Given the description of an element on the screen output the (x, y) to click on. 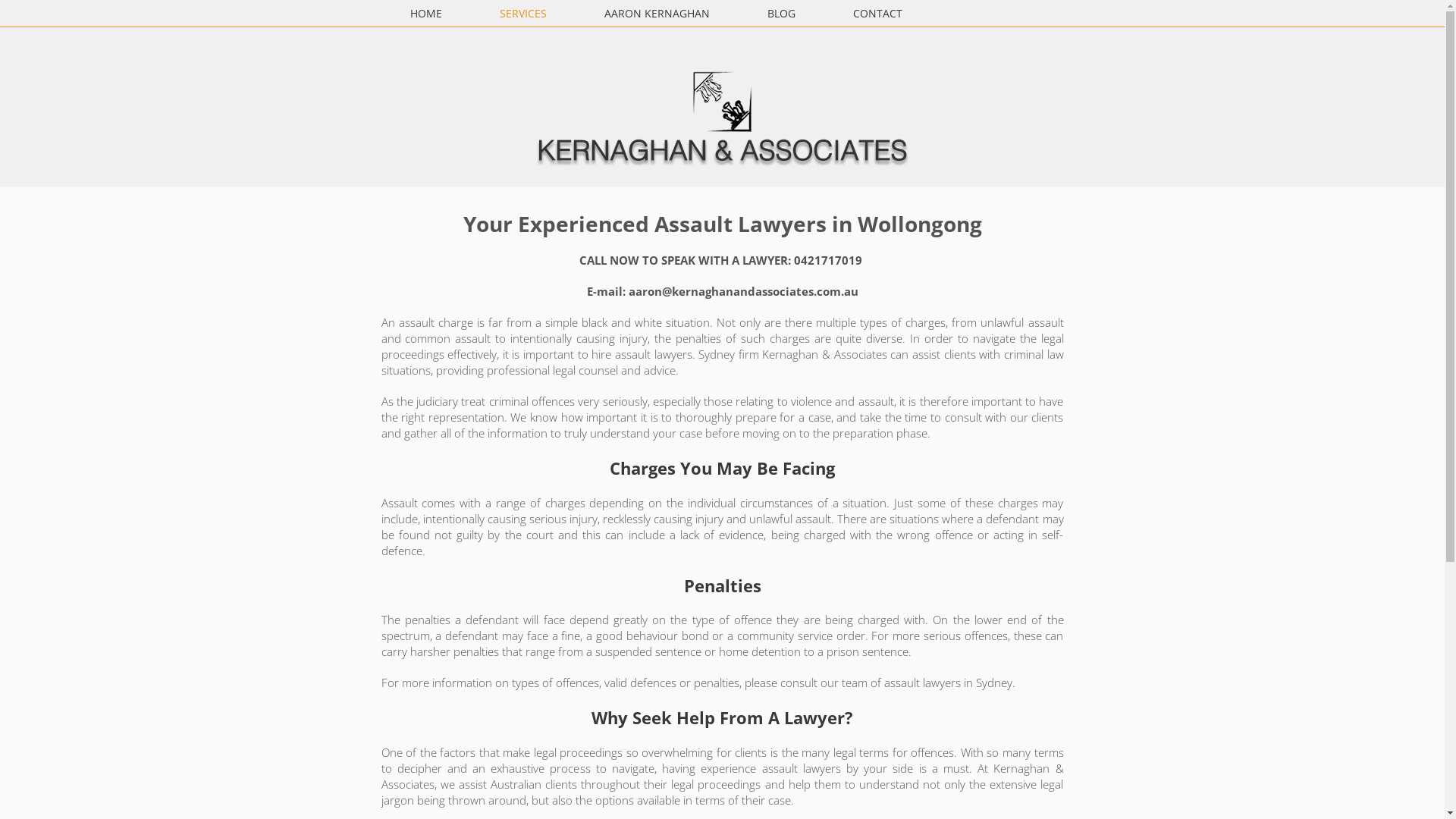
CONTACT Element type: text (876, 13)
SERVICES Element type: text (522, 13)
AARON KERNAGHAN Element type: text (656, 13)
HOME Element type: text (425, 13)
BLOG Element type: text (781, 13)
